Given the description of an element on the screen output the (x, y) to click on. 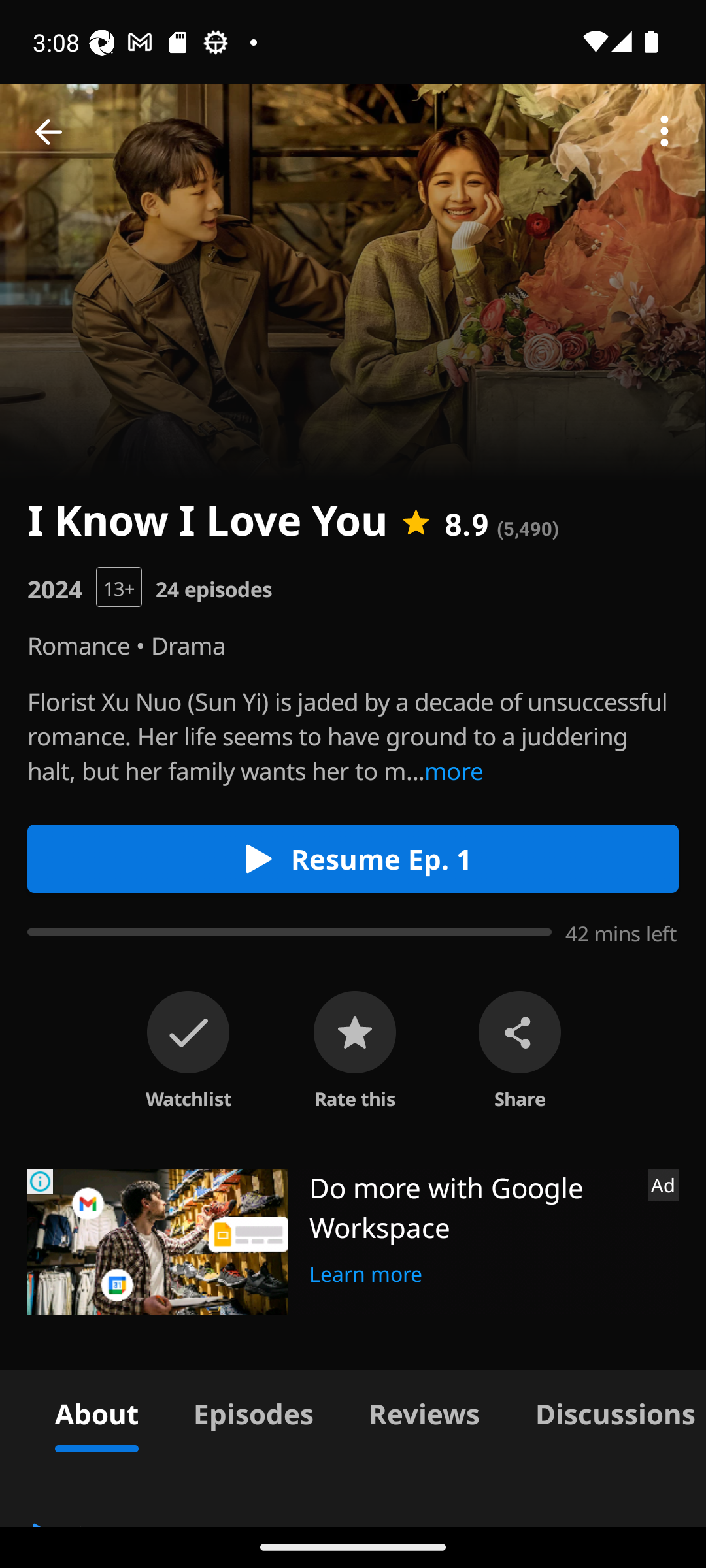
More (664, 131)
on (187, 1032)
Ad Choices Icon (39, 1181)
Do more with Google Workspace (471, 1207)
Learn more (365, 1271)
Episodes (252, 1410)
Reviews (423, 1410)
Discussions (606, 1410)
